Given the description of an element on the screen output the (x, y) to click on. 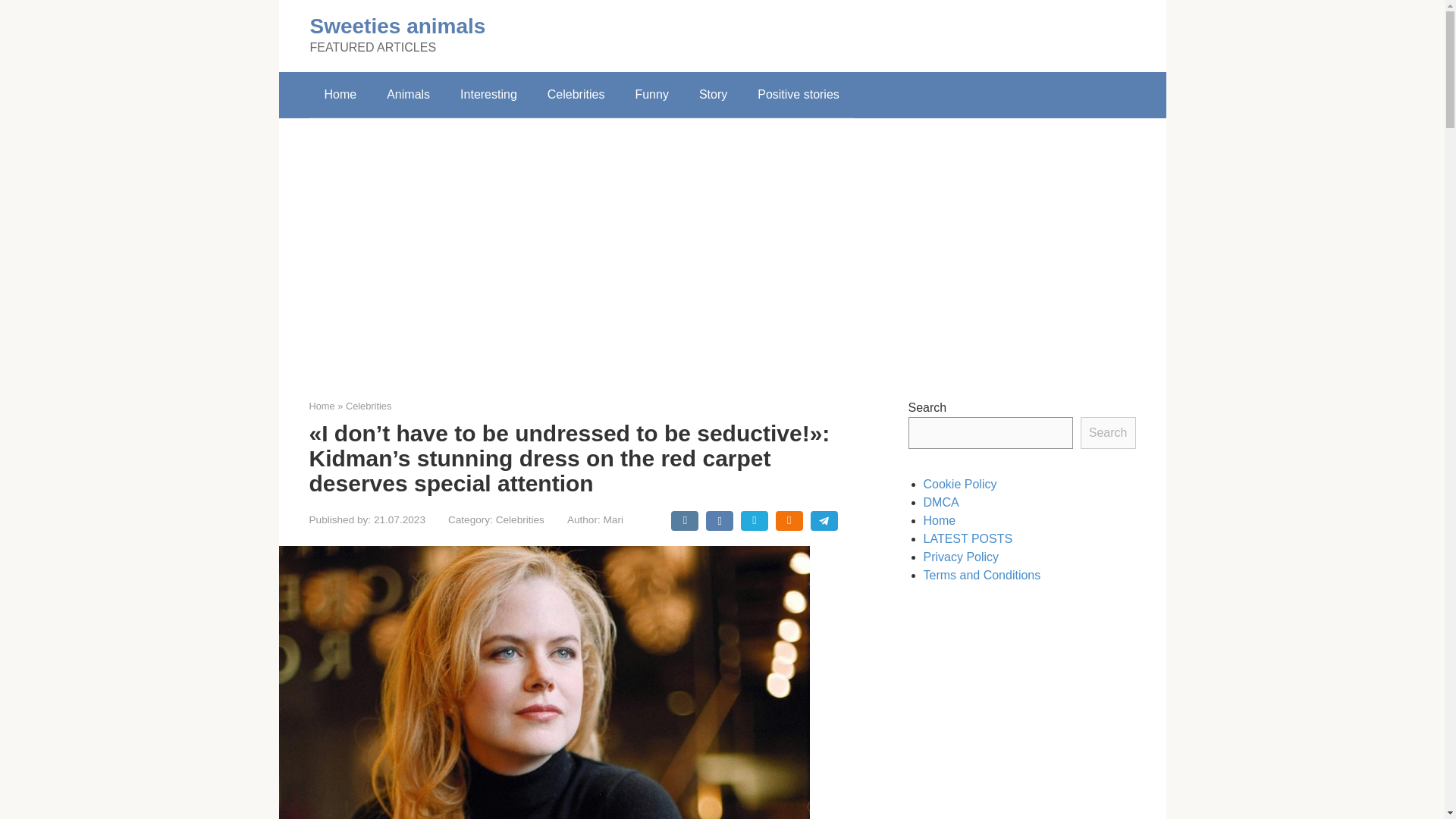
Interesting (488, 94)
Home (340, 94)
Home (321, 405)
Sweeties animals (396, 25)
Story (713, 94)
Funny (651, 94)
Celebrities (368, 405)
Celebrities (520, 519)
Celebrities (576, 94)
Positive stories (798, 94)
